Given the description of an element on the screen output the (x, y) to click on. 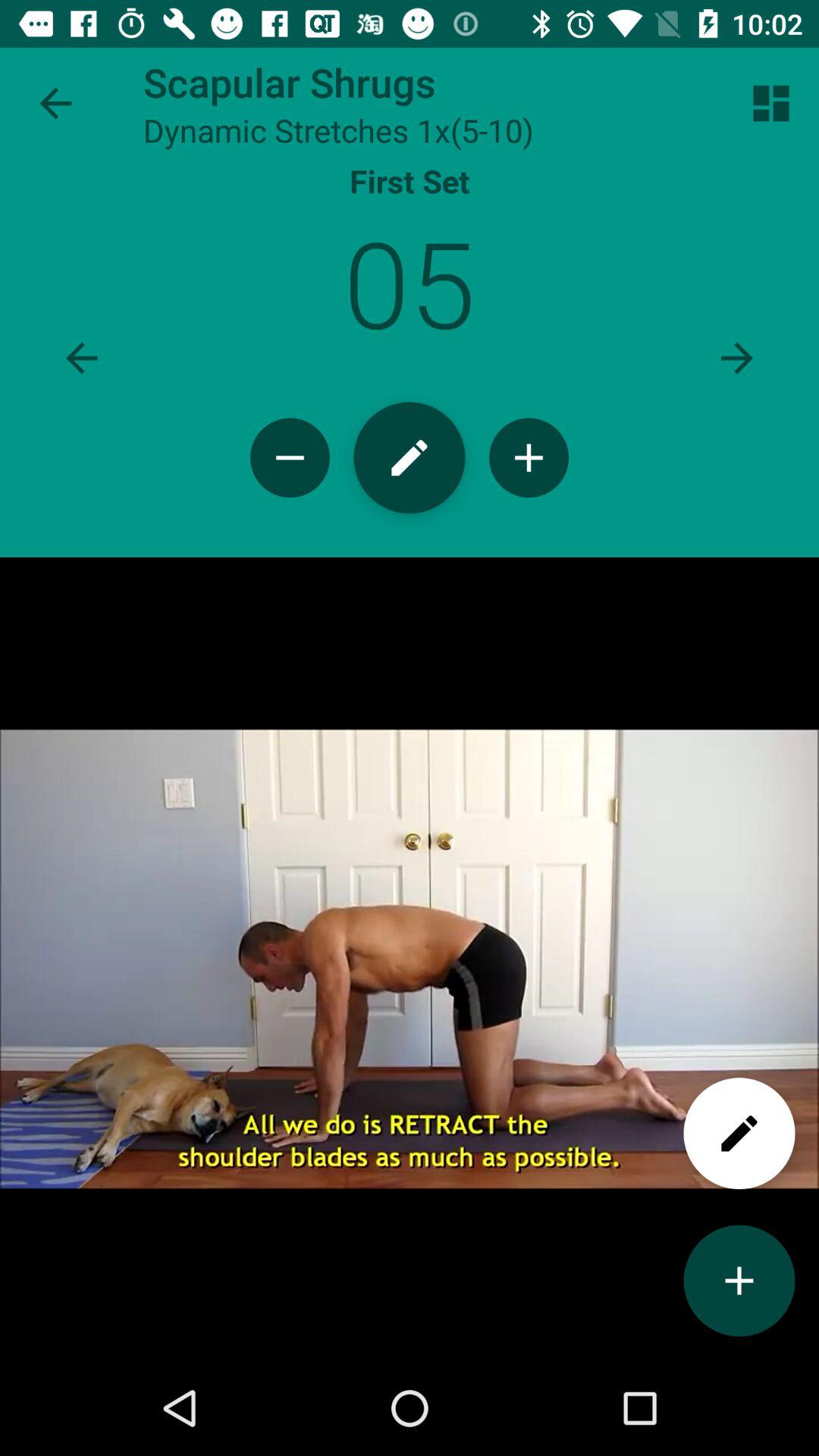
to add videos (739, 1280)
